Given the description of an element on the screen output the (x, y) to click on. 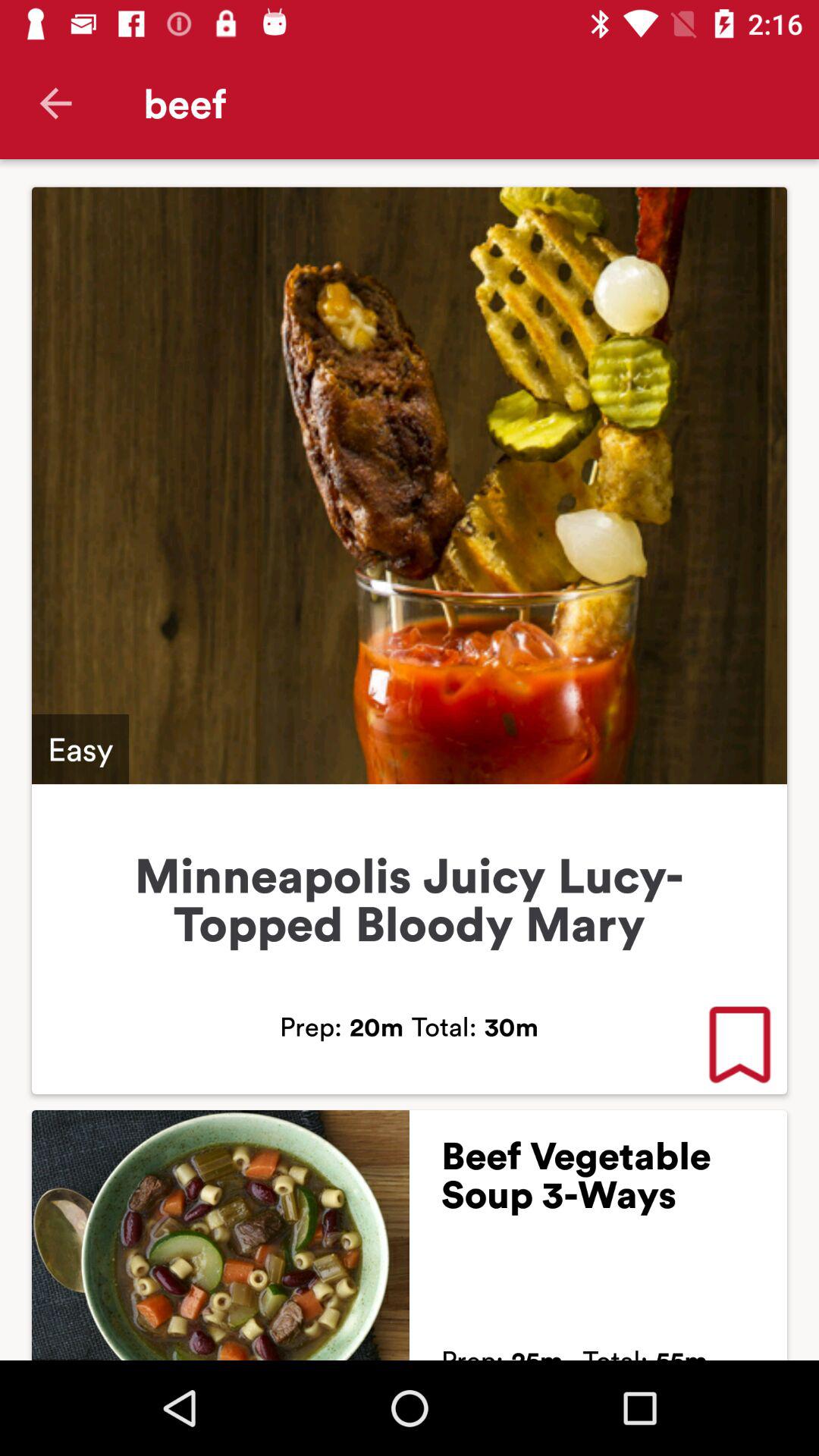
press the item above the beef vegetable soup item (739, 1046)
